Given the description of an element on the screen output the (x, y) to click on. 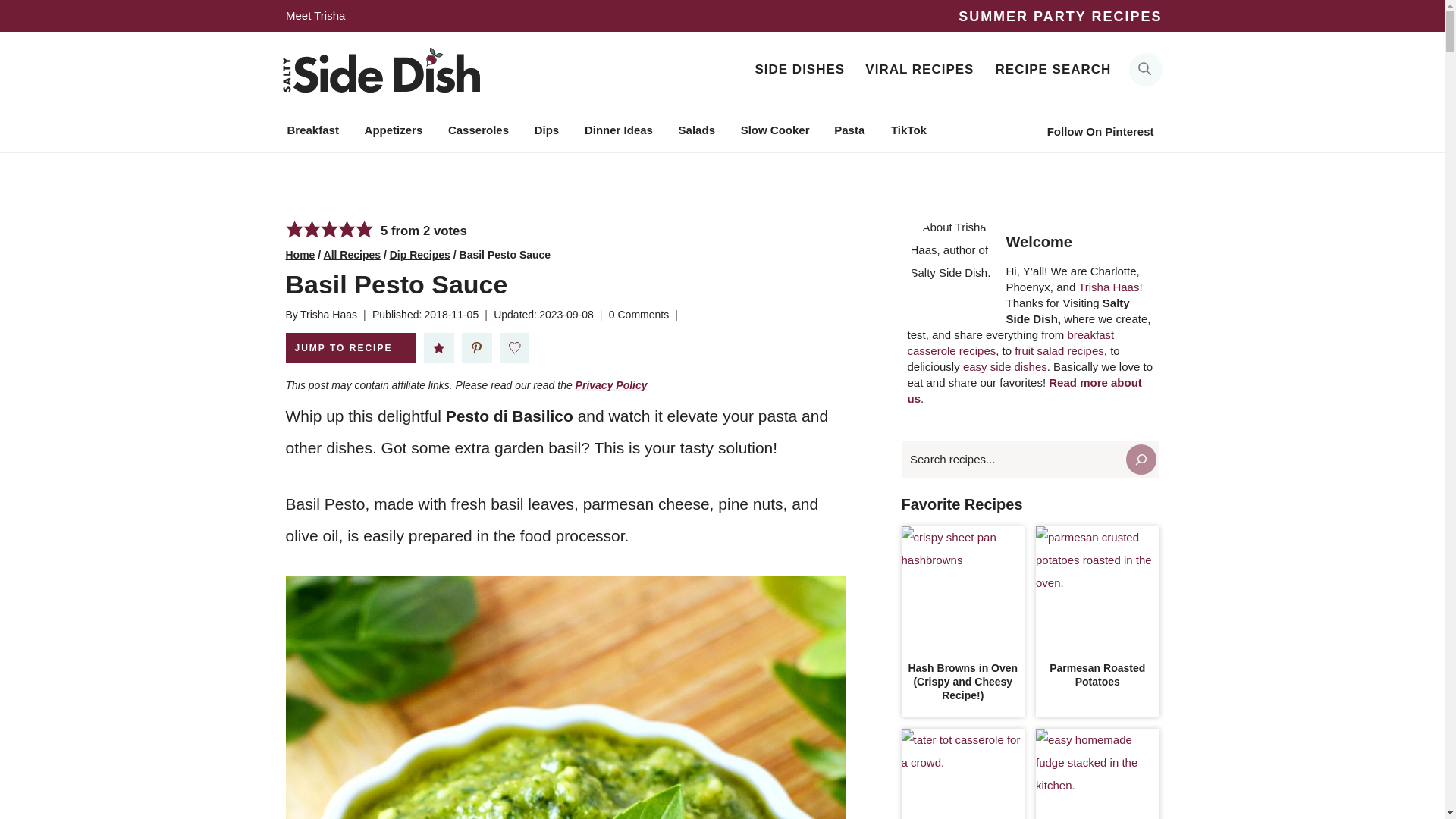
Slow Cooker (774, 130)
search (1144, 69)
Casseroles (1145, 69)
Breakfast (477, 130)
Meet Trisha (312, 130)
0 Comments (315, 15)
TikTok (638, 314)
Pasta (908, 130)
Appetizers (849, 130)
